Given the description of an element on the screen output the (x, y) to click on. 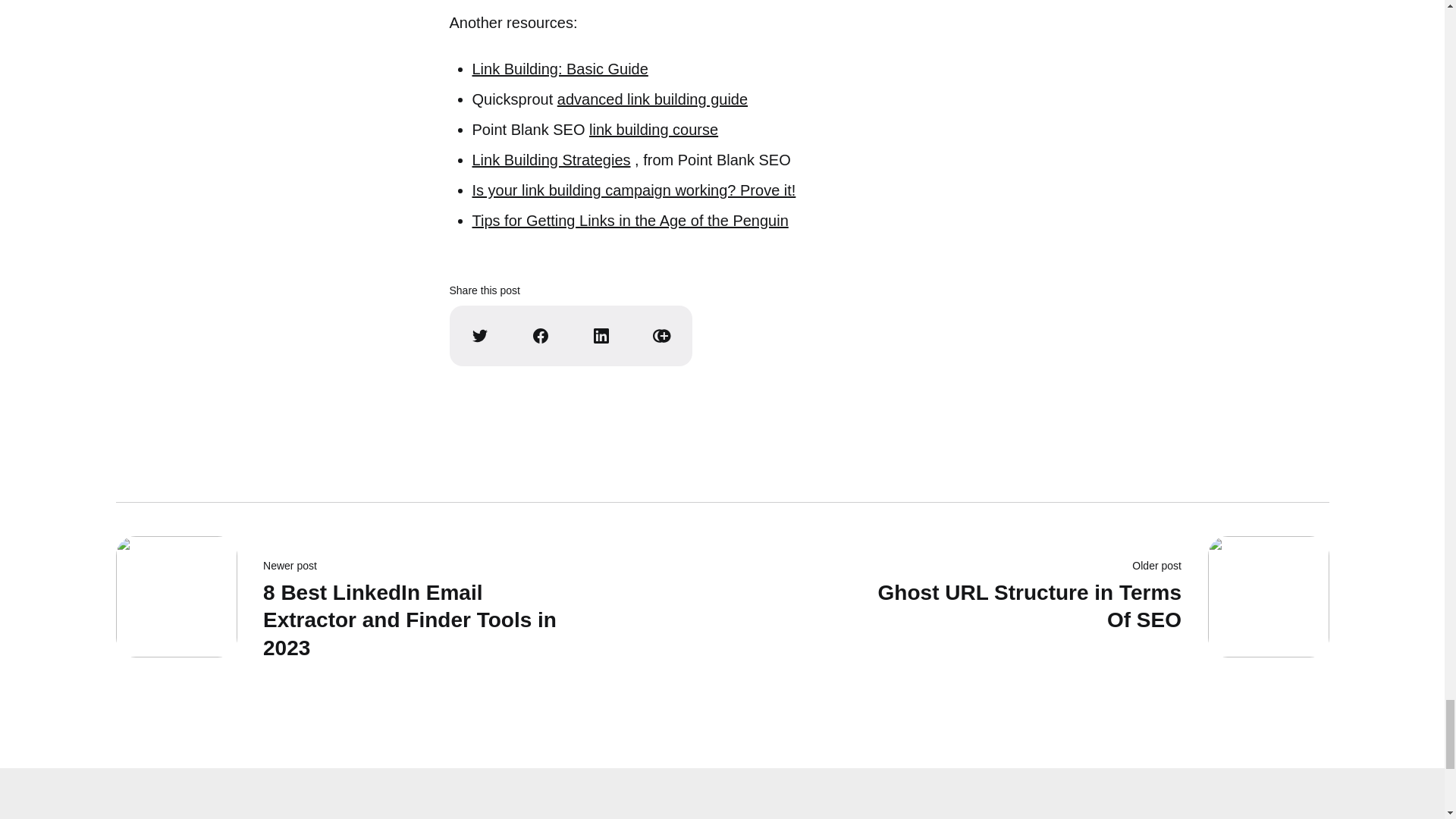
link building course (653, 129)
Link Building Strategies (1085, 603)
advanced link building guide (550, 159)
Is your link building campaign working? Prove it! (652, 98)
Link Building: Basic Guide (632, 190)
Tips for Getting Links in the Age of the Penguin (559, 68)
